Given the description of an element on the screen output the (x, y) to click on. 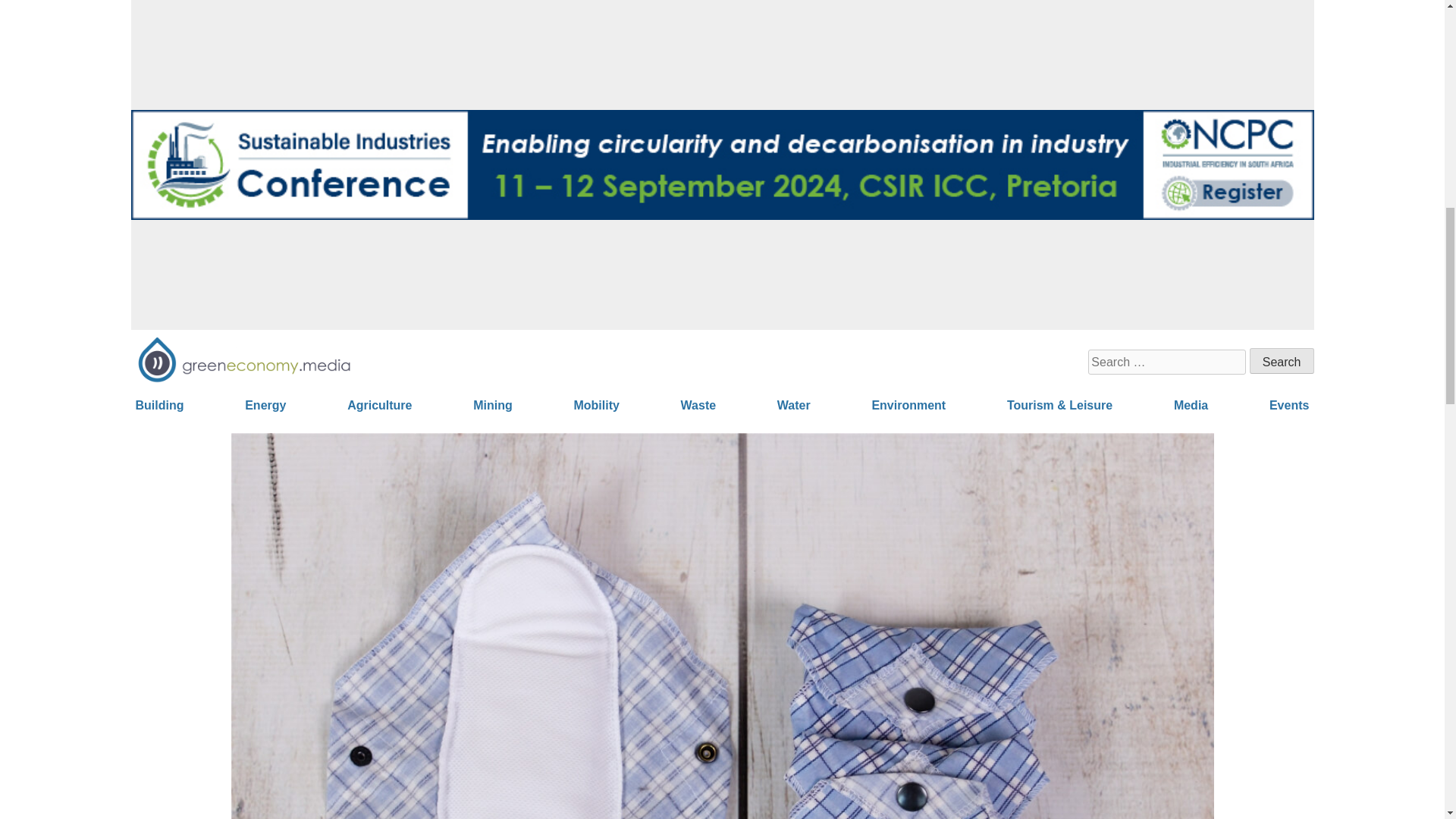
Waste (698, 405)
GreenEconomy.Media (185, 413)
Energy (264, 405)
Mobility (595, 405)
Mining (492, 405)
Events (1288, 405)
Environment (907, 405)
Media (1190, 405)
Search (1281, 360)
Building (159, 405)
Search (1281, 360)
Search (1281, 360)
Agriculture (379, 405)
Water (793, 405)
